Given the description of an element on the screen output the (x, y) to click on. 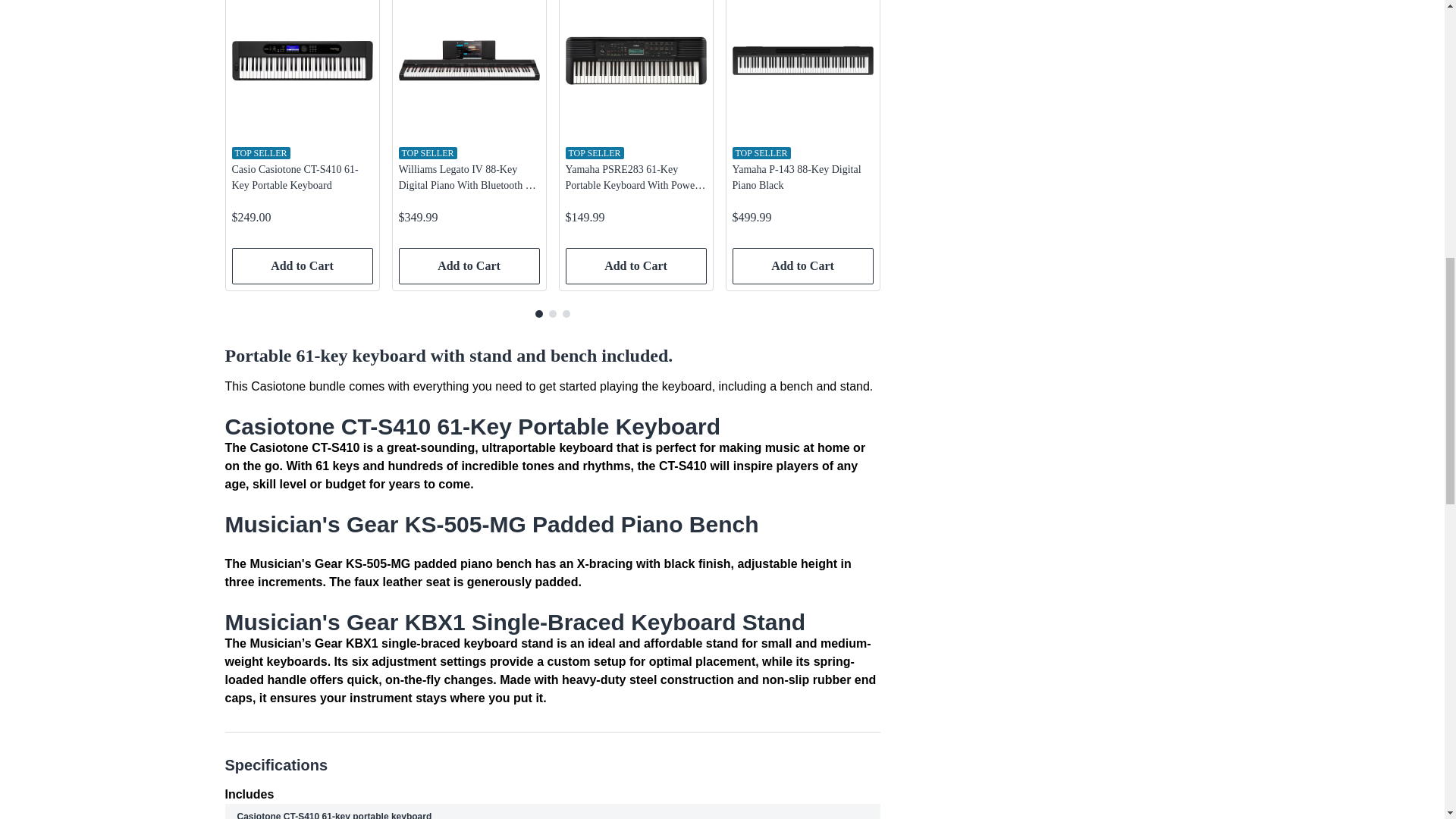
Add to Cart (469, 266)
Add to Cart (636, 266)
Add to Cart (802, 266)
Add to Cart (301, 266)
